Given the description of an element on the screen output the (x, y) to click on. 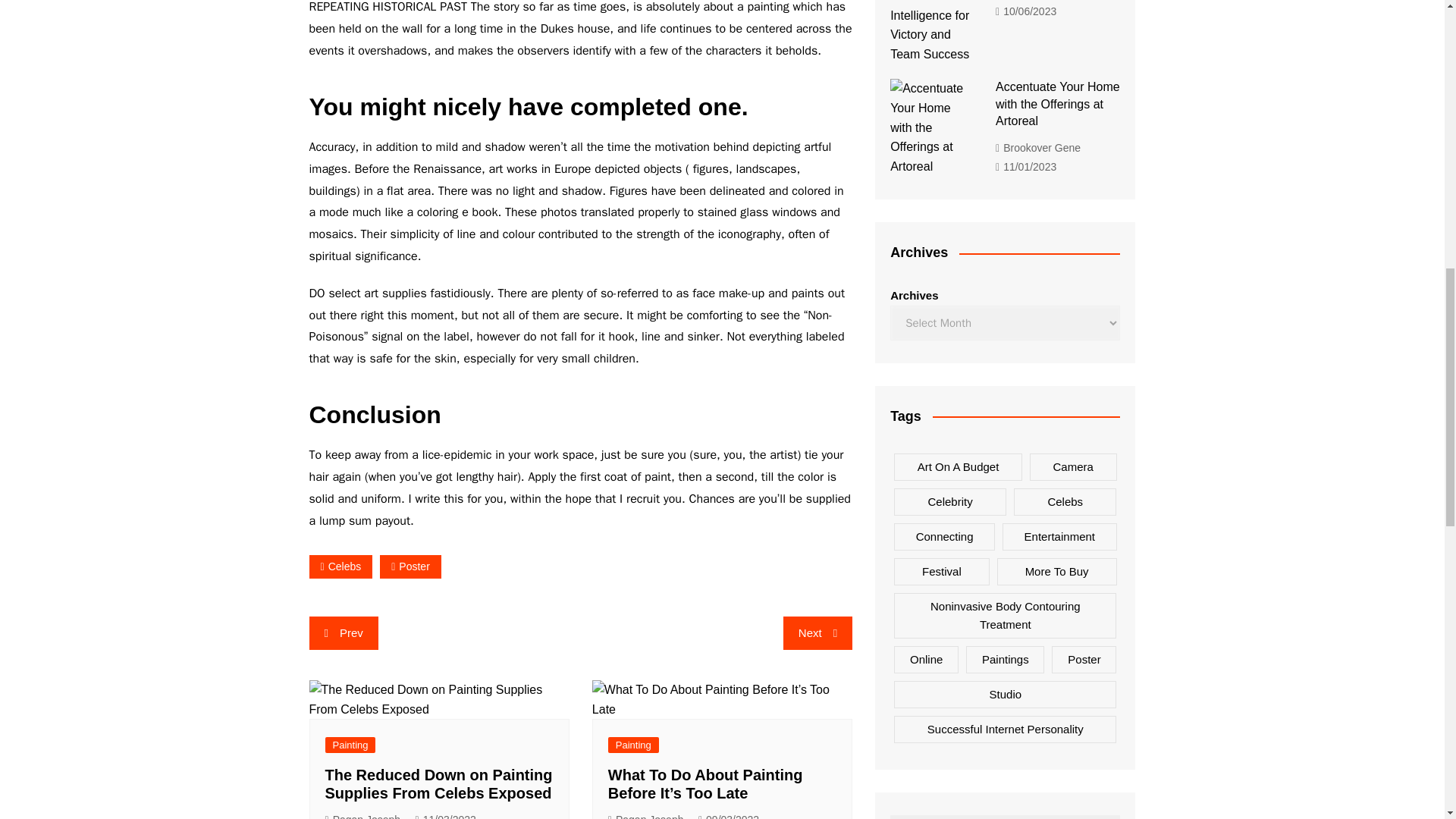
Painting (349, 744)
Celebs (340, 566)
The Reduced Down on Painting Supplies From Celebs Exposed (437, 783)
Prev (343, 633)
The Reduced Down on Painting Supplies From Celebs Exposed (438, 699)
What To Do About Painting Before It's Too Late (721, 699)
Pagan Joseph (646, 815)
Painting (633, 744)
Next (817, 633)
